Given the description of an element on the screen output the (x, y) to click on. 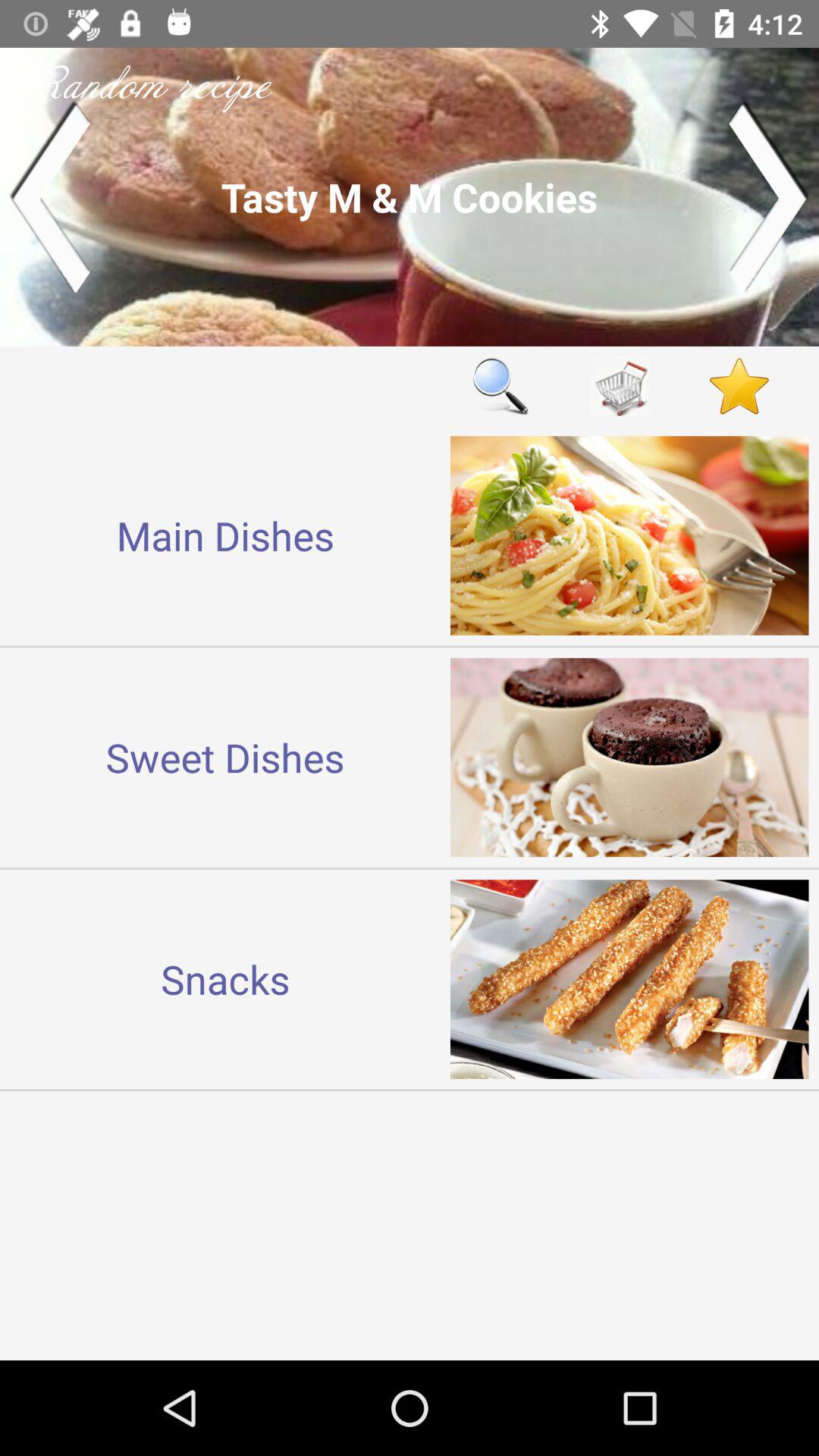
go back (49, 196)
